Given the description of an element on the screen output the (x, y) to click on. 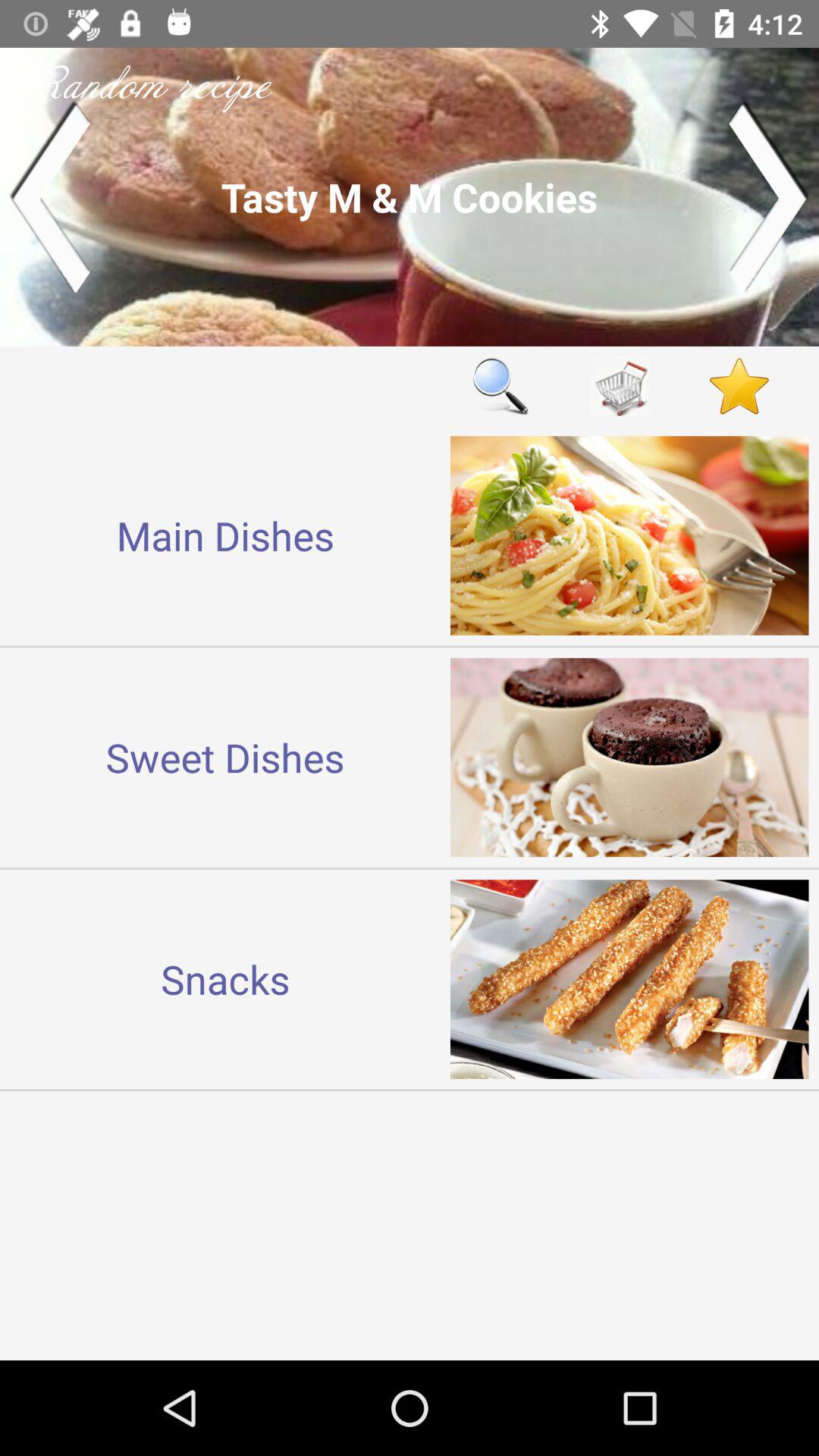
go back (49, 196)
